Given the description of an element on the screen output the (x, y) to click on. 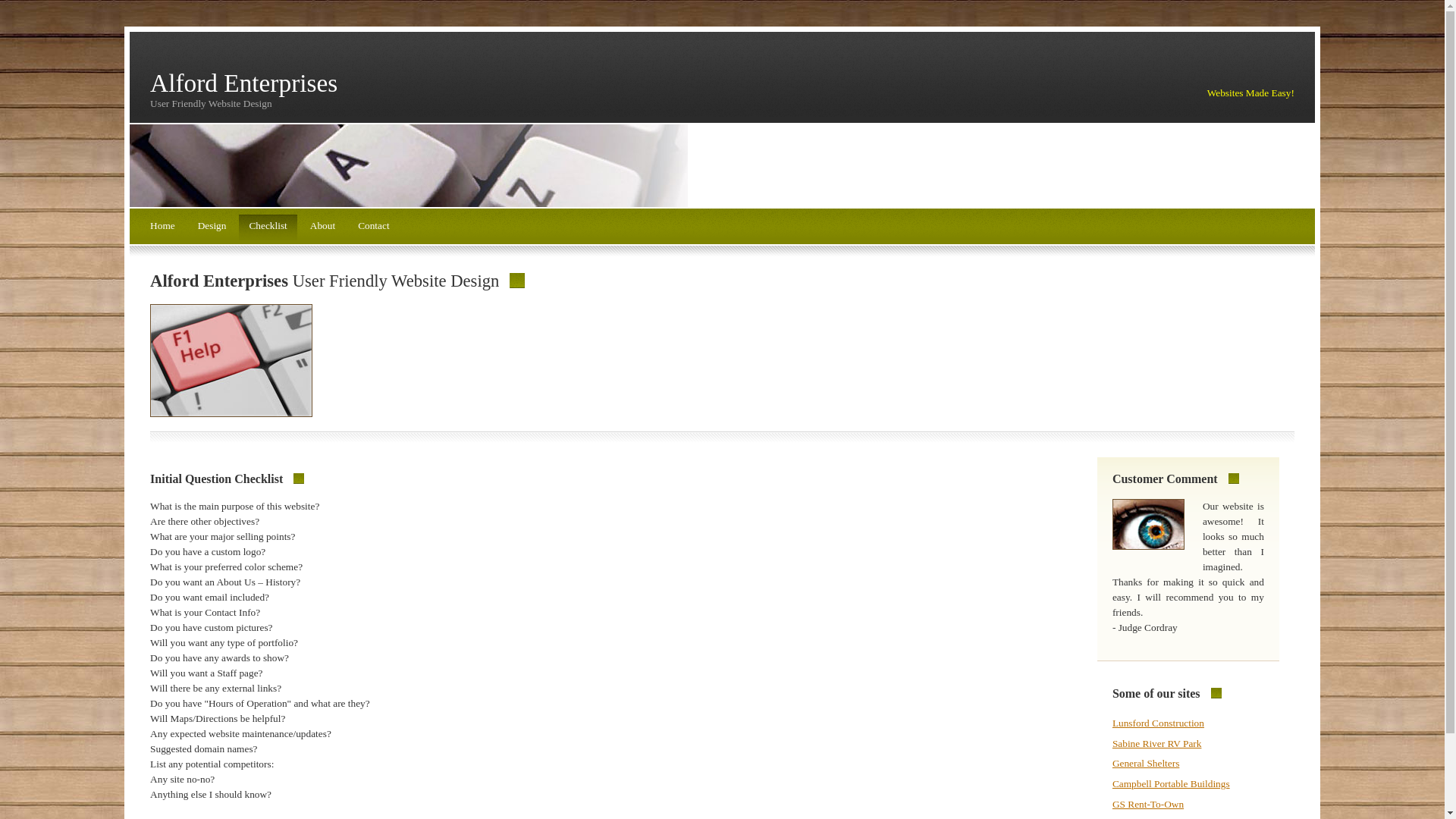
Lunsford Construction (1158, 722)
Contact (372, 227)
Design (211, 227)
Campbell Portable Buildings (1171, 783)
GS Rent-To-Own (1147, 803)
Checklist (267, 227)
About (322, 227)
Sabine River RV Park (1157, 743)
Home (161, 227)
General Shelters (1145, 763)
